Given the description of an element on the screen output the (x, y) to click on. 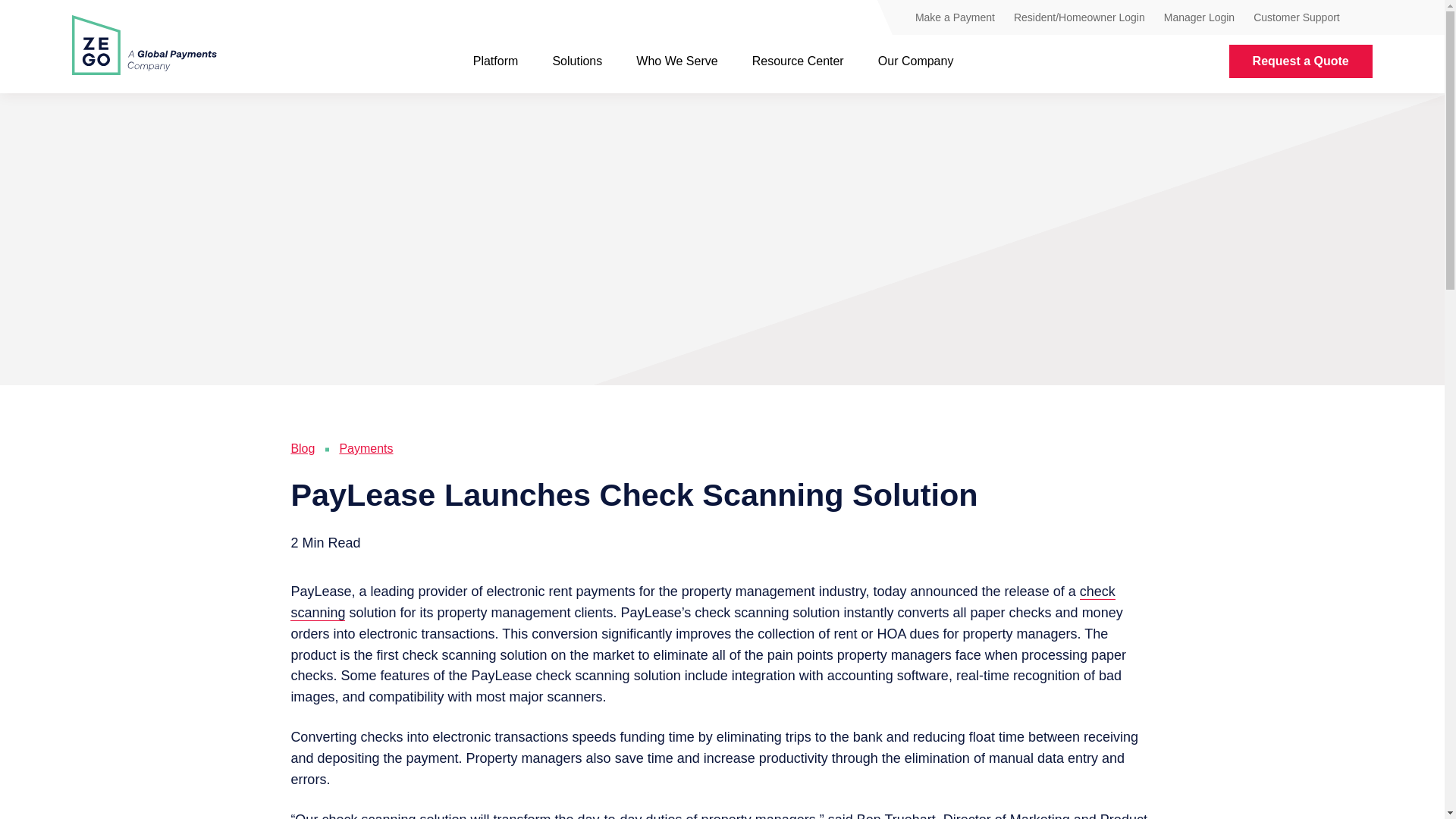
Solutions (576, 60)
Search (1365, 19)
Manager Login (1198, 17)
Make a Payment (954, 17)
Search (1365, 19)
Who We Serve (676, 60)
Check Scanning (702, 601)
Platform (495, 60)
Customer Support (1296, 17)
